Given the description of an element on the screen output the (x, y) to click on. 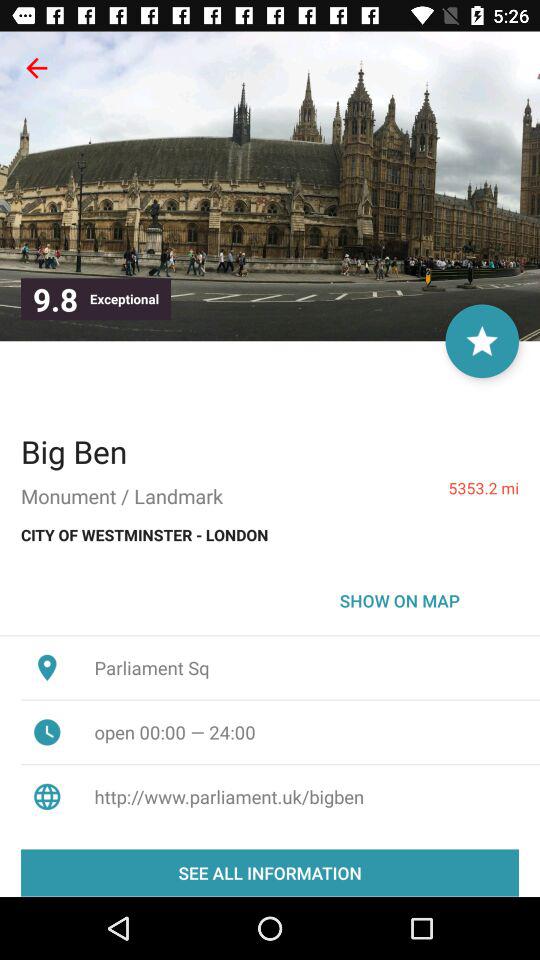
turn off the icon next to exceptional icon (482, 341)
